Given the description of an element on the screen output the (x, y) to click on. 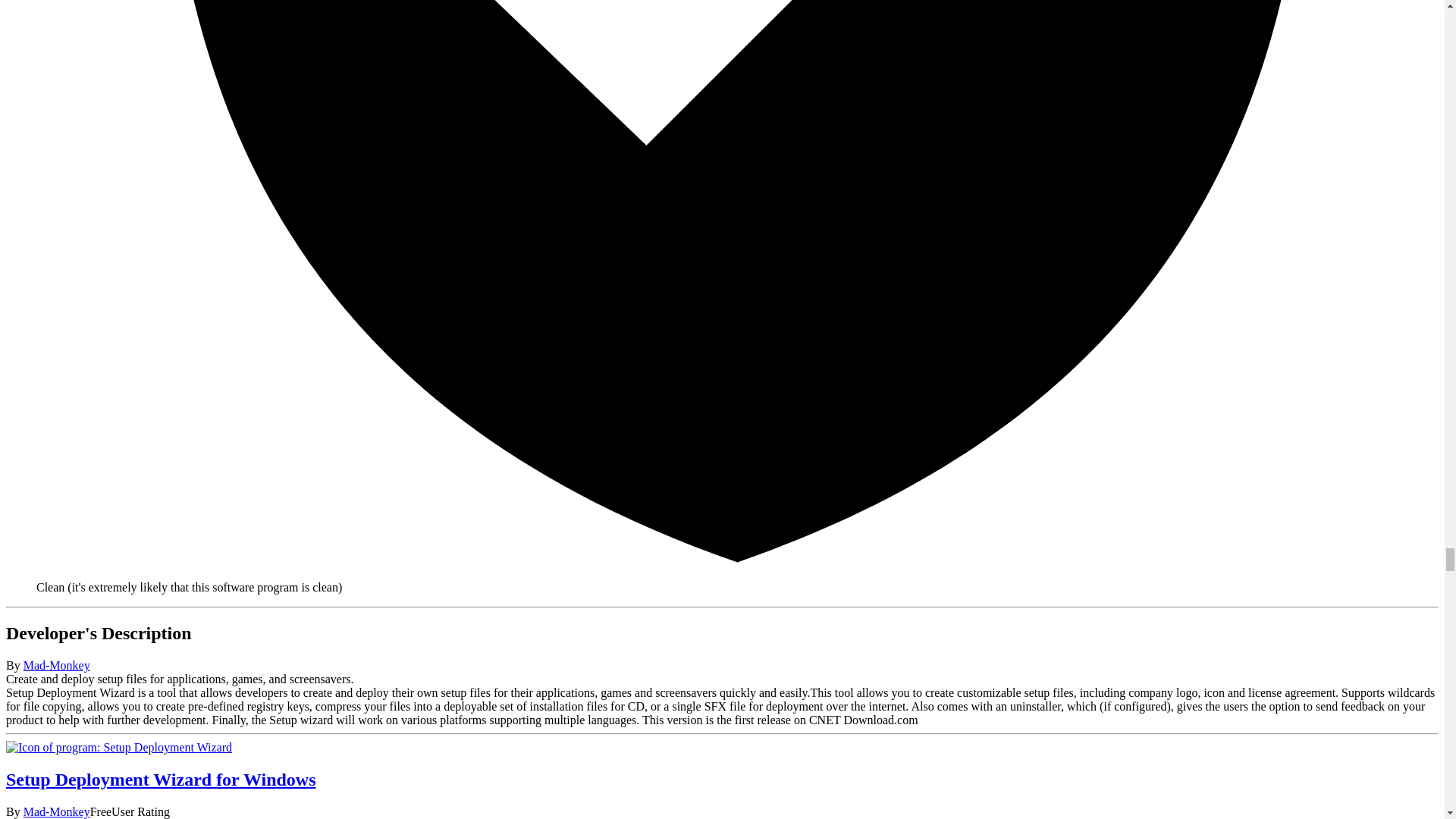
Setup Deployment Wizard for Windows (118, 747)
